Given the description of an element on the screen output the (x, y) to click on. 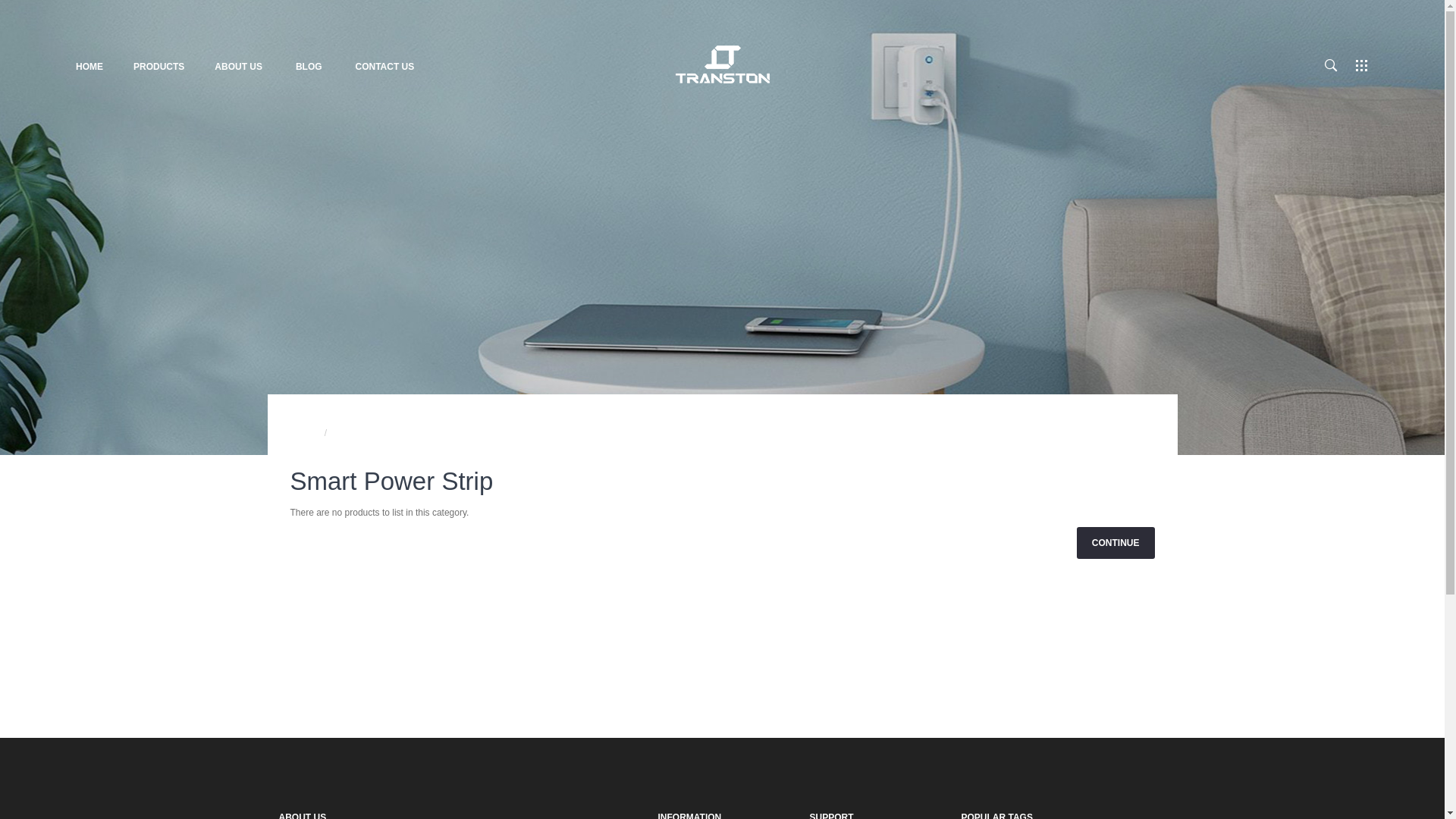
Smart Power Strip Element type: text (374, 432)
CONTACT US Element type: text (384, 66)
Transton Element type: hover (721, 64)
ABOUT US Element type: text (238, 66)
CONTINUE Element type: text (1115, 542)
HOME Element type: text (94, 66)
PRODUCTS Element type: text (158, 66)
BLOG Element type: text (308, 66)
Home Element type: text (301, 432)
